Given the description of an element on the screen output the (x, y) to click on. 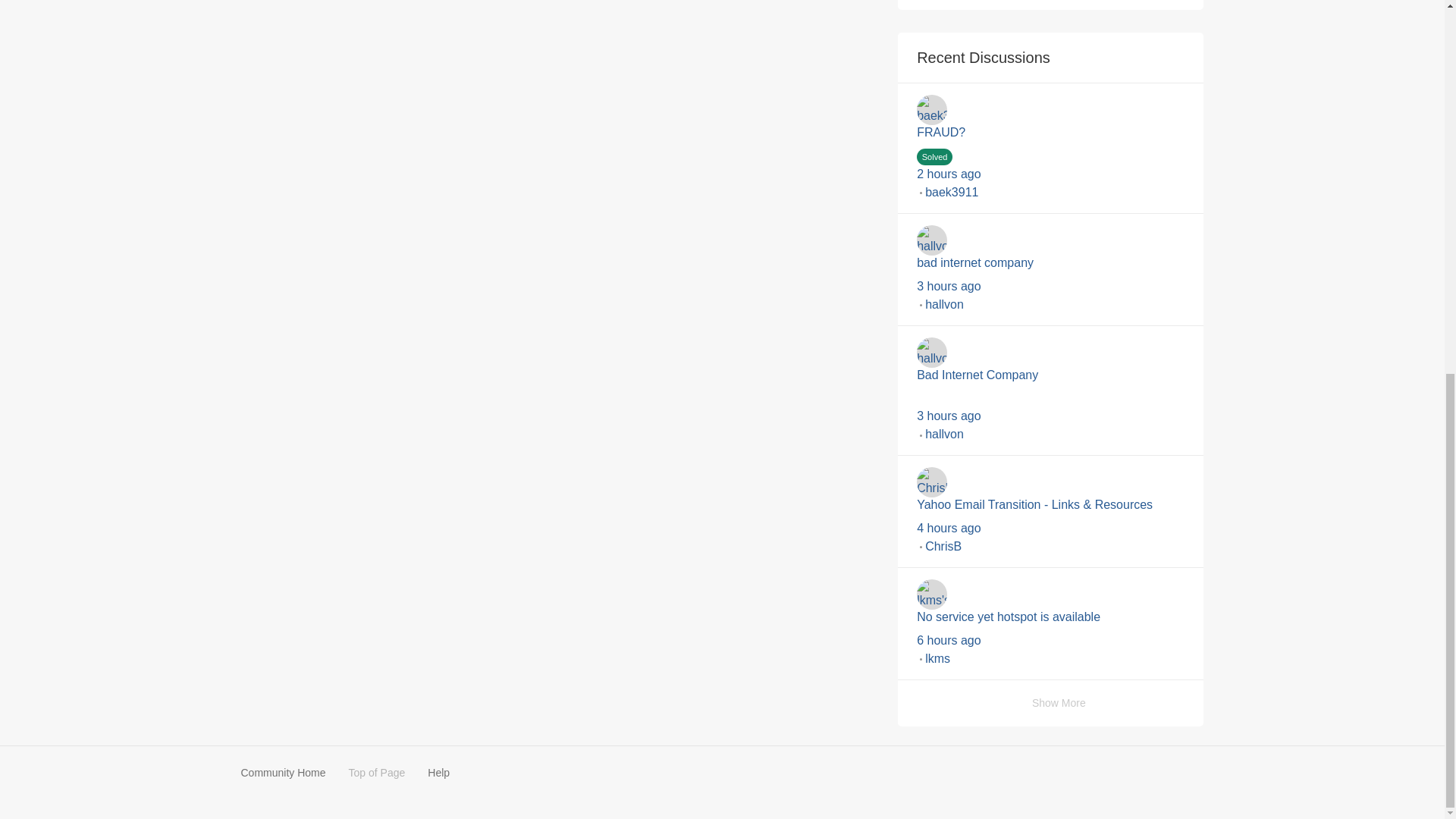
bad internet company (1051, 263)
September 2, 2024 at 10:19 PM (949, 173)
September 2, 2024 at 8:36 PM (949, 415)
September 2, 2024 at 8:51 PM (949, 286)
Bad Internet Company (1051, 375)
FRAUD? (1051, 132)
